Given the description of an element on the screen output the (x, y) to click on. 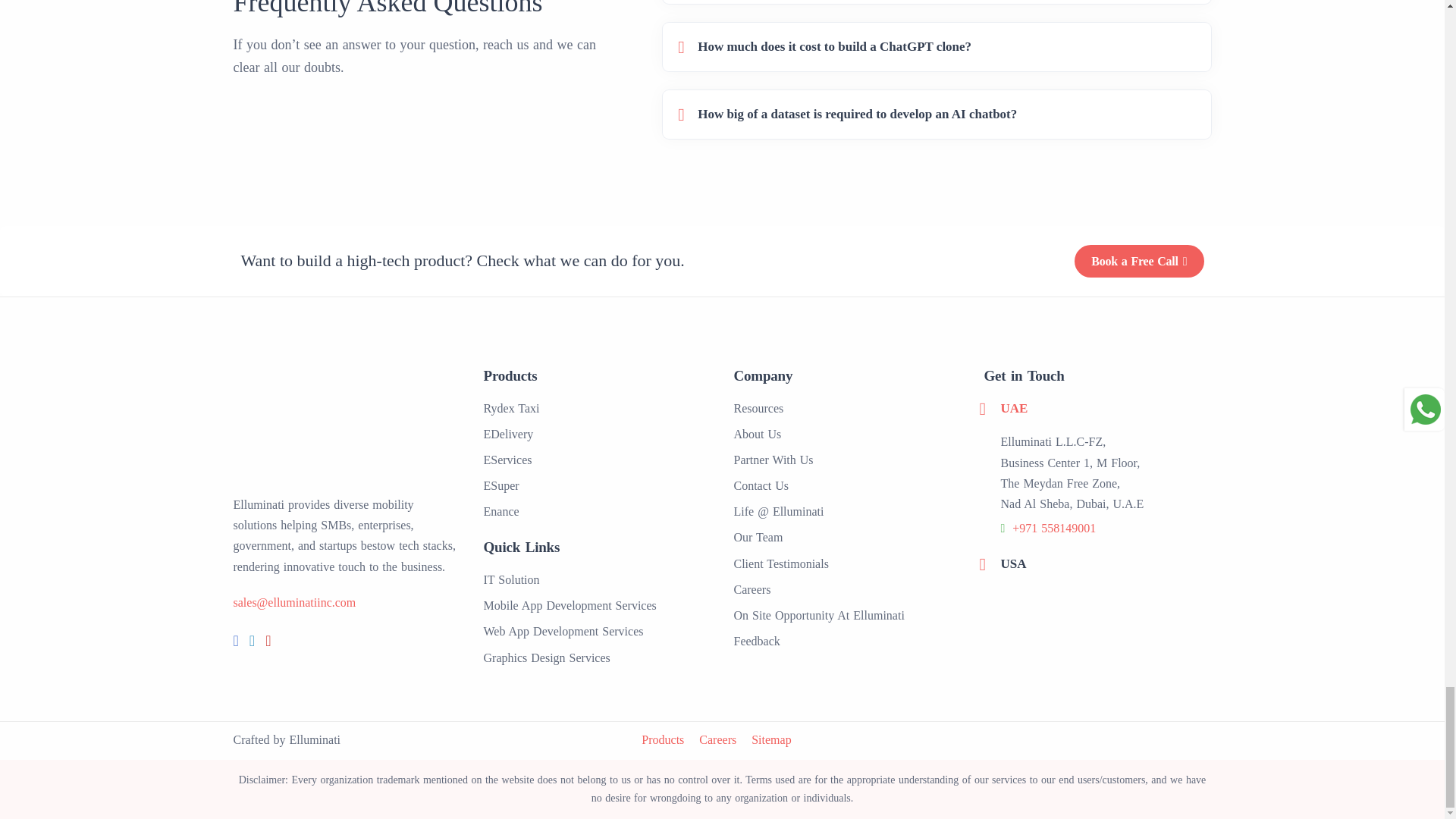
DMCA.com Protection Status (1154, 739)
